Given the description of an element on the screen output the (x, y) to click on. 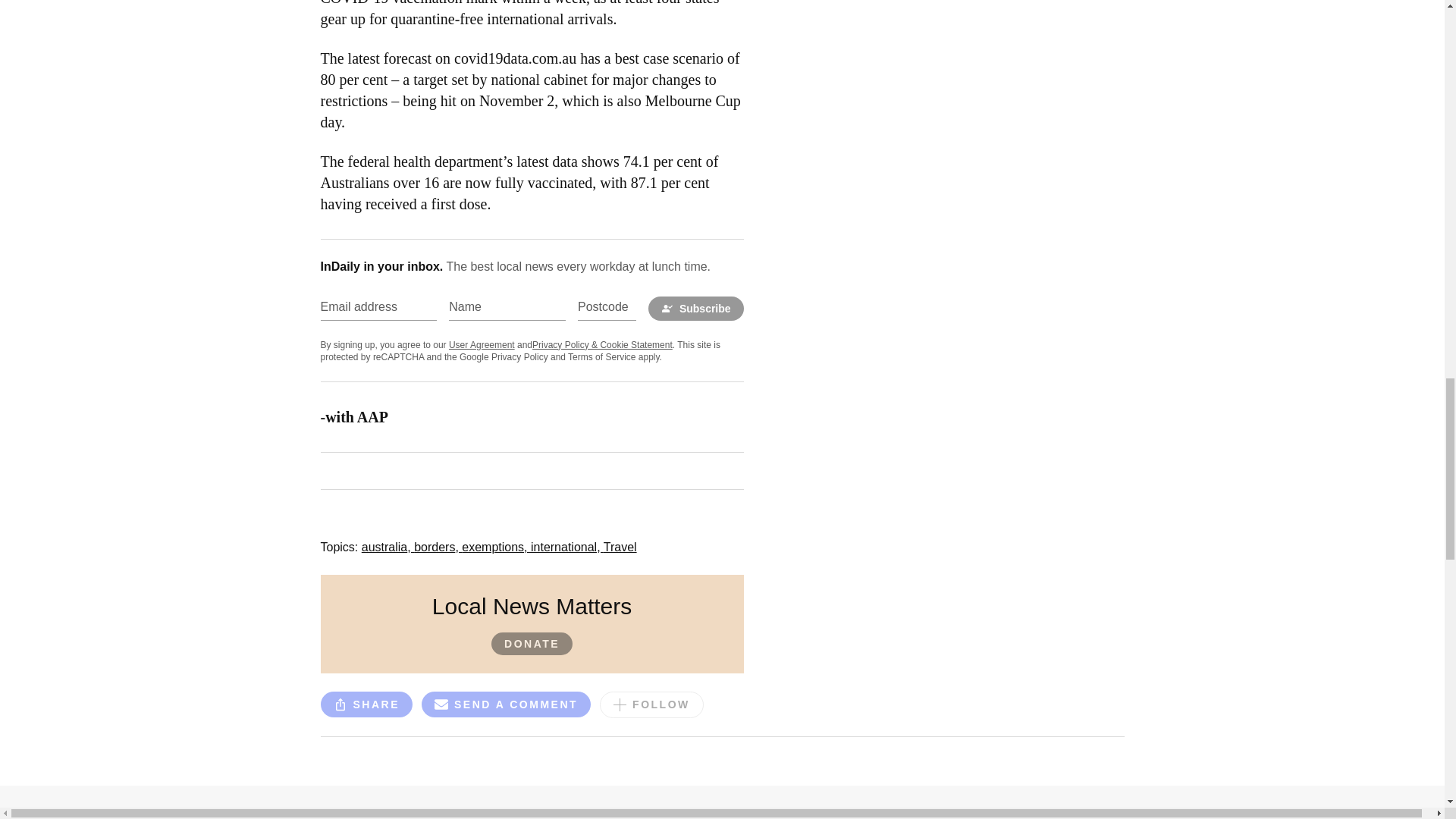
DONATE (532, 643)
borders, (437, 546)
User Agreement (481, 344)
exemptions, (496, 546)
FOLLOW (651, 704)
Subscribe (695, 308)
SHARE (366, 704)
SEND A COMMENT (506, 707)
australia, (387, 546)
Travel (620, 546)
